Given the description of an element on the screen output the (x, y) to click on. 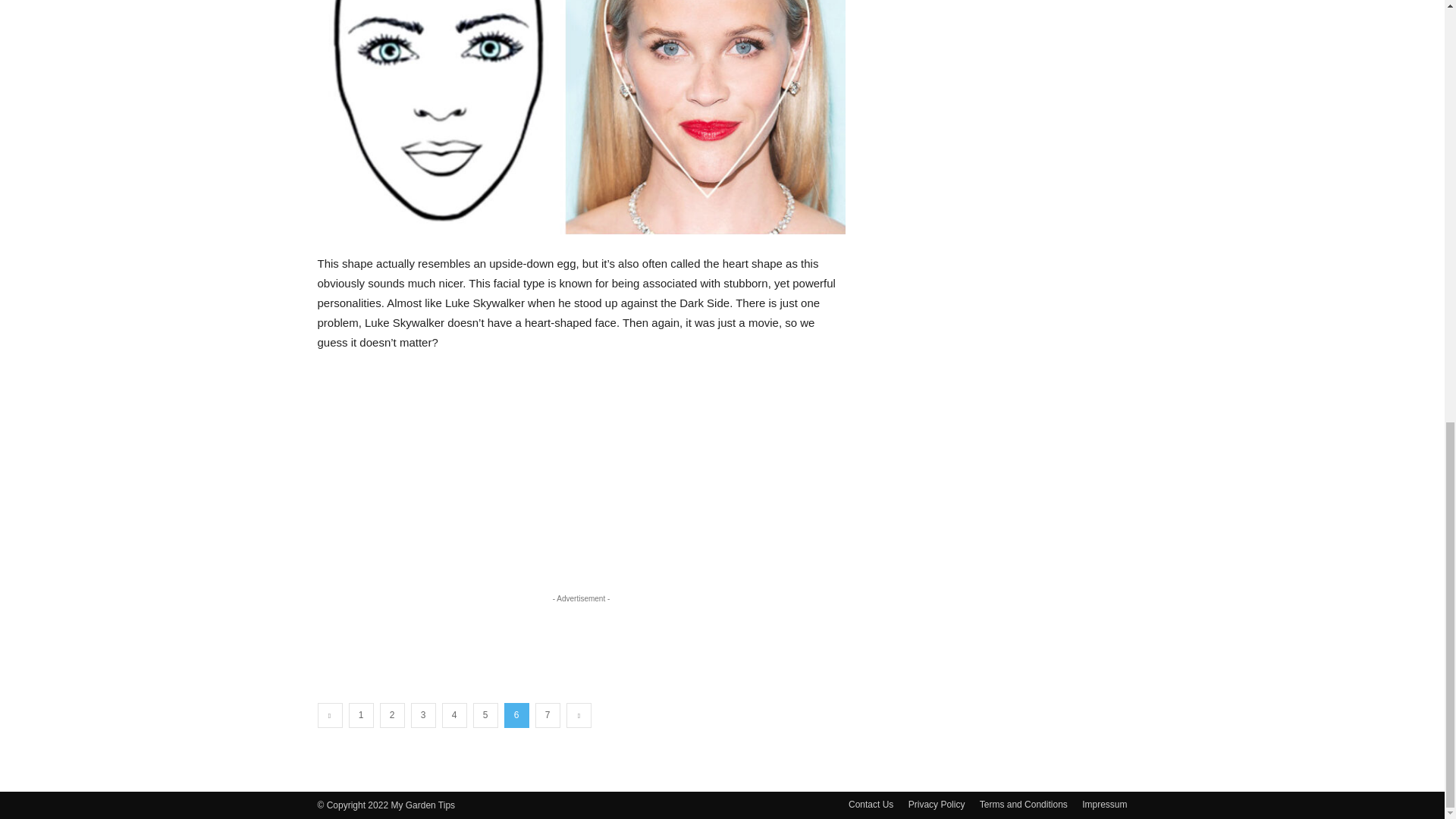
5 (485, 715)
4 (453, 715)
Contact Us (870, 804)
Advertisement (1003, 72)
Advertisement (580, 478)
3 (422, 715)
1 (361, 715)
7 (547, 715)
Advertisement (580, 640)
2 (391, 715)
